Given the description of an element on the screen output the (x, y) to click on. 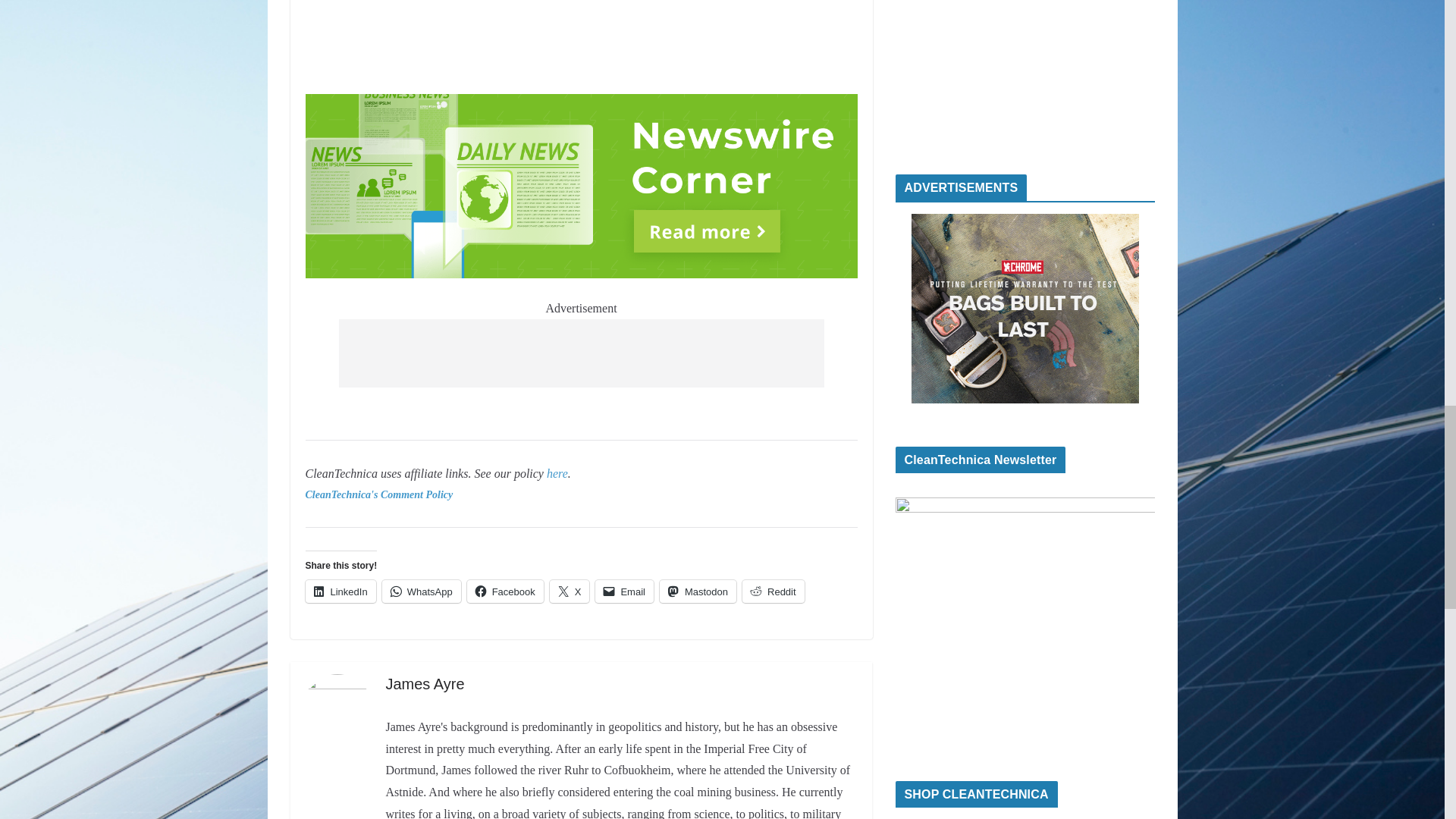
Click to share on LinkedIn (339, 590)
Click to share on Reddit (773, 590)
Click to share on Facebook (505, 590)
Click to share on Mastodon (697, 590)
Click to share on WhatsApp (421, 590)
Click to email a link to a friend (624, 590)
YouTube video player (580, 43)
Click to share on X (569, 590)
